Given the description of an element on the screen output the (x, y) to click on. 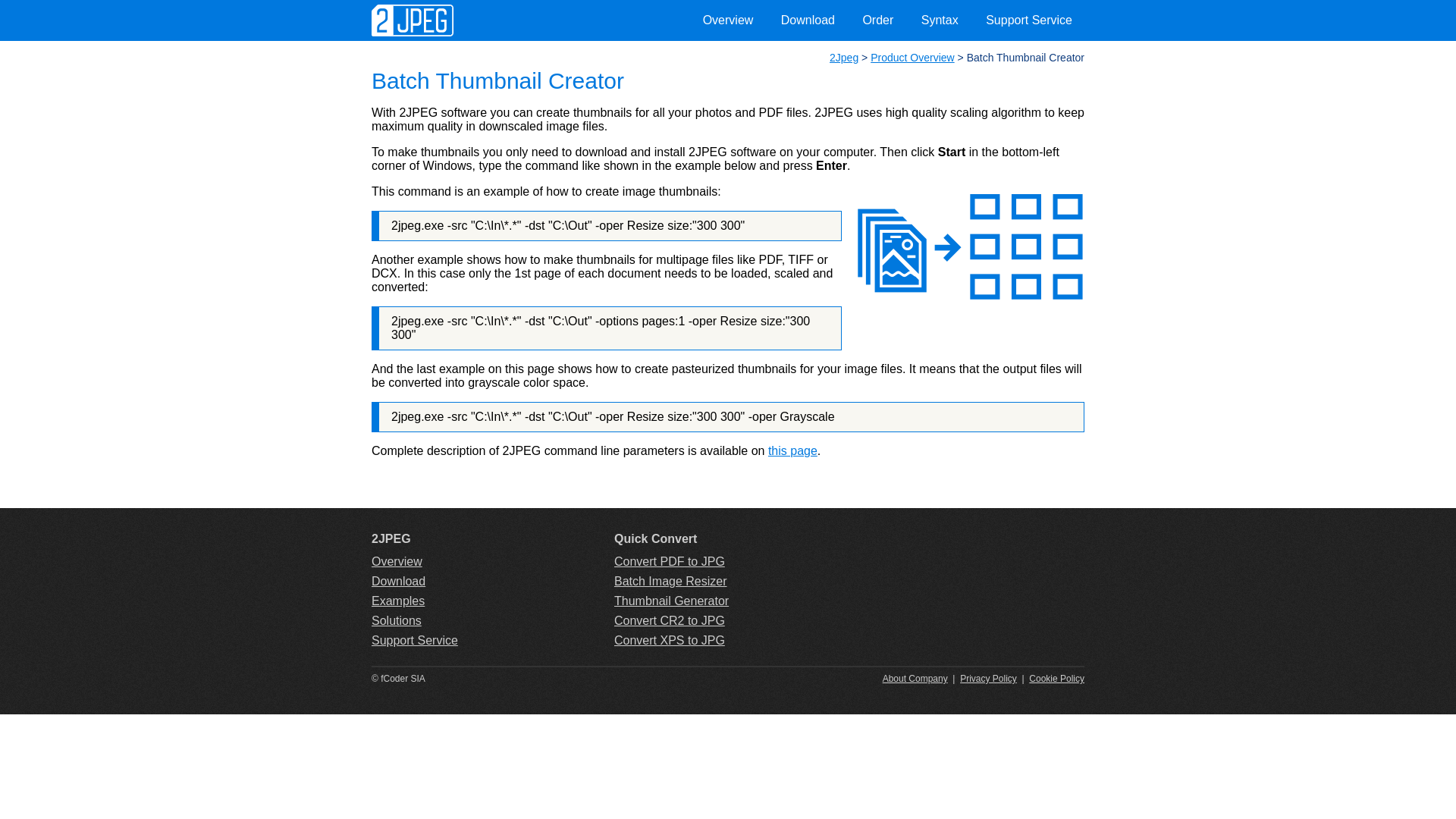
Syntax Element type: text (939, 20)
Order Element type: text (877, 20)
Download Element type: text (807, 20)
Download Element type: text (398, 580)
Batch Image Resizer Element type: text (670, 580)
2Jpeg Element type: text (843, 57)
Convert XPS to JPG Element type: text (669, 639)
Product Overview Element type: text (911, 57)
Solutions Element type: text (396, 620)
this page Element type: text (792, 450)
Convert PDF to JPG Element type: text (669, 561)
About Company Element type: text (914, 678)
Examples Element type: text (397, 600)
Convert CR2 to JPG Element type: text (669, 620)
Cookie Policy Element type: text (1056, 678)
Support Service Element type: text (414, 639)
Overview Element type: text (396, 561)
2Jpeg - Advanced Batch Image Converter Element type: hover (412, 31)
Support Service Element type: text (1028, 20)
Thumbnail Generator Element type: text (671, 600)
Overview Element type: text (727, 20)
Privacy Policy Element type: text (988, 678)
